Given the description of an element on the screen output the (x, y) to click on. 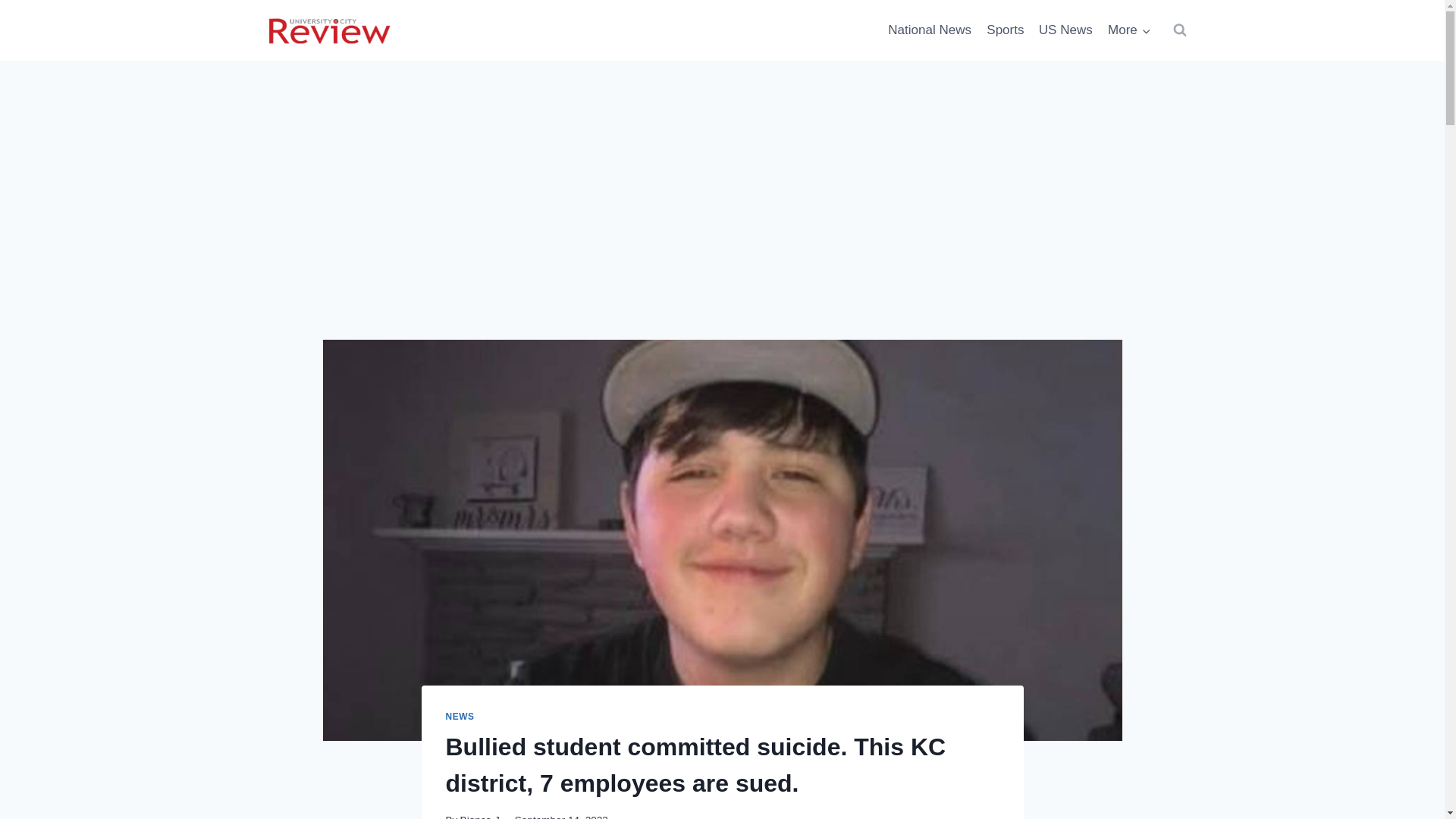
Advertisement (722, 227)
US News (1065, 30)
Bianca J (479, 816)
NEWS (459, 716)
National News (929, 30)
Sports (1005, 30)
More (1128, 30)
